Given the description of an element on the screen output the (x, y) to click on. 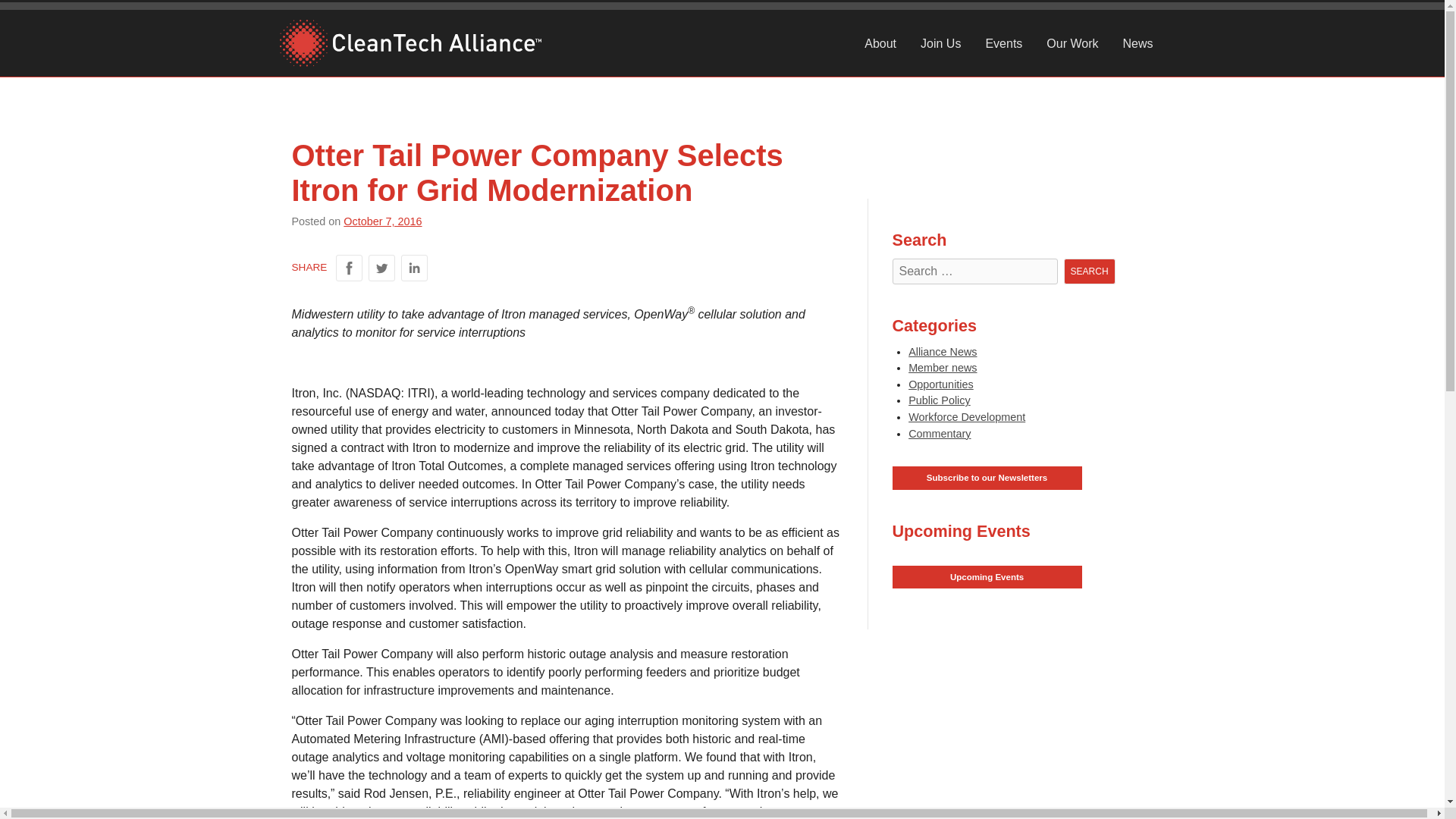
Share on Twitter (381, 267)
Share on Facebook (349, 267)
Join Us (940, 43)
Share on LinkedIn (414, 267)
cta-logo (409, 42)
Events (1002, 43)
Search (1089, 271)
Search (1089, 271)
About (879, 43)
Our Work (1071, 43)
cta-logo (409, 43)
